Given the description of an element on the screen output the (x, y) to click on. 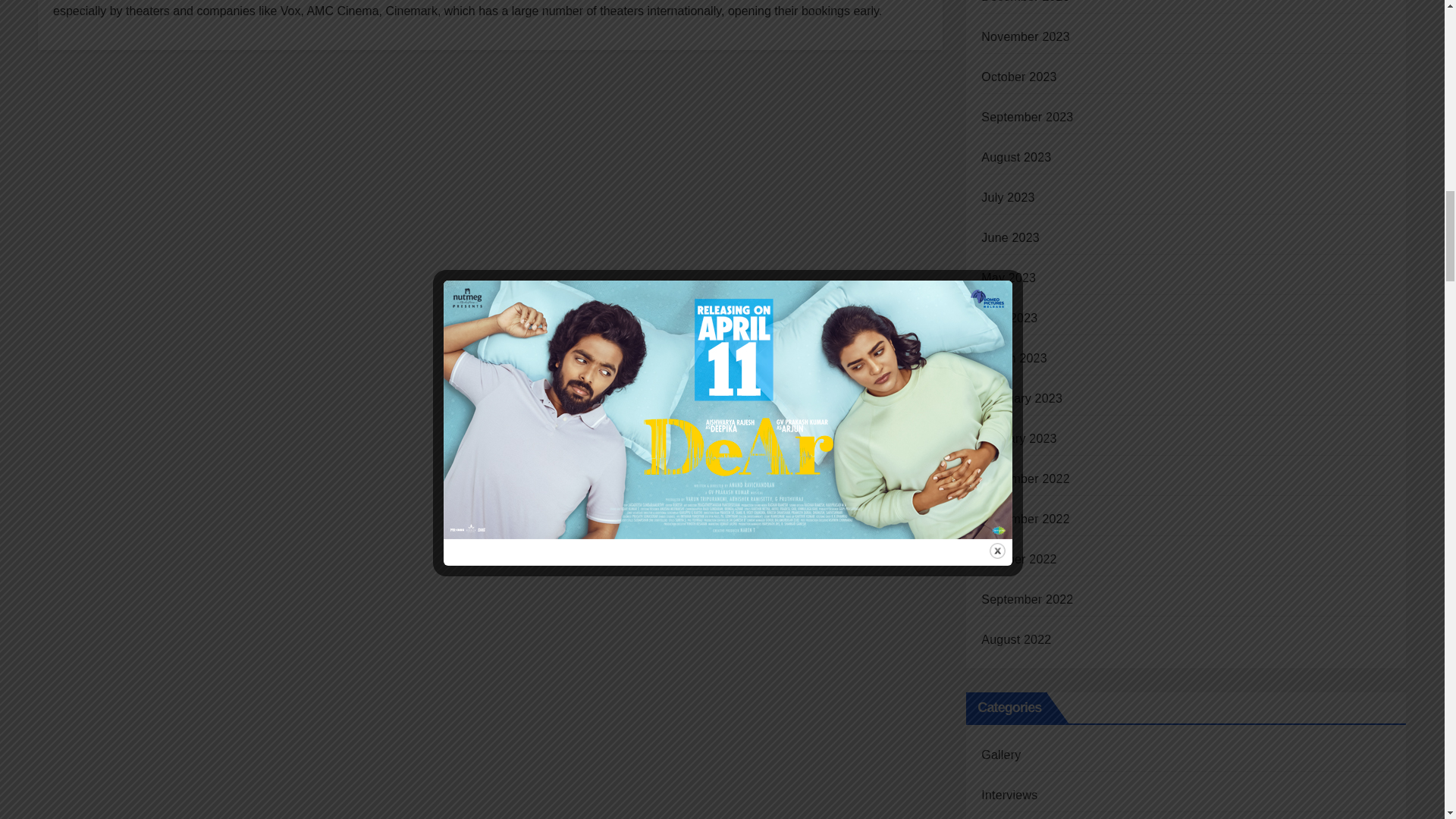
September 2023 (1027, 116)
May 2023 (1008, 277)
July 2023 (1007, 196)
August 2023 (1016, 156)
June 2023 (1010, 237)
December 2023 (1024, 1)
November 2023 (1024, 36)
October 2023 (1019, 76)
